Given the description of an element on the screen output the (x, y) to click on. 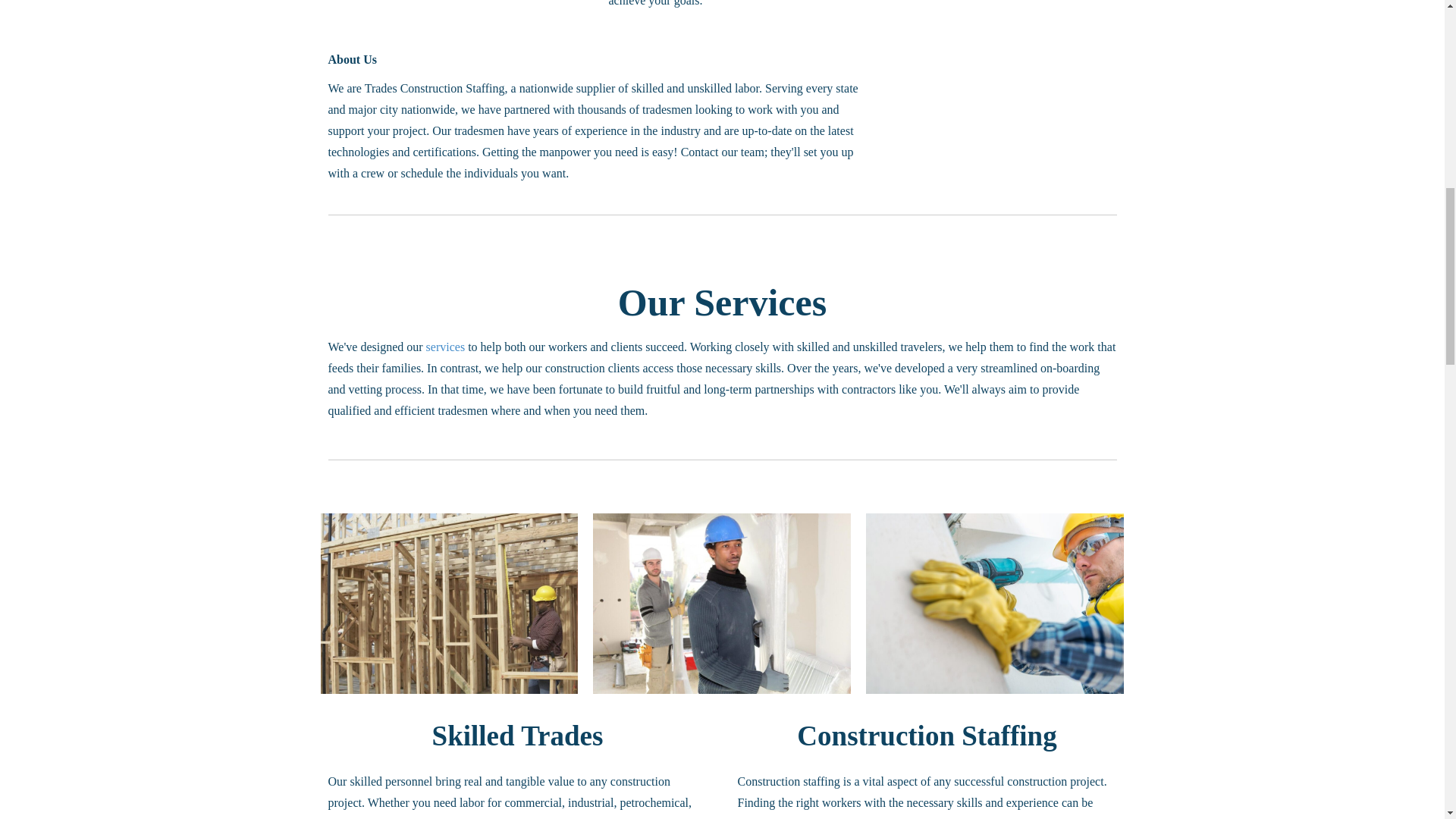
services (445, 346)
Trades Construction Staffing - General Labor 2 (721, 603)
Trades Construction Staffing - Construction Staffing 2 (449, 603)
